Given the description of an element on the screen output the (x, y) to click on. 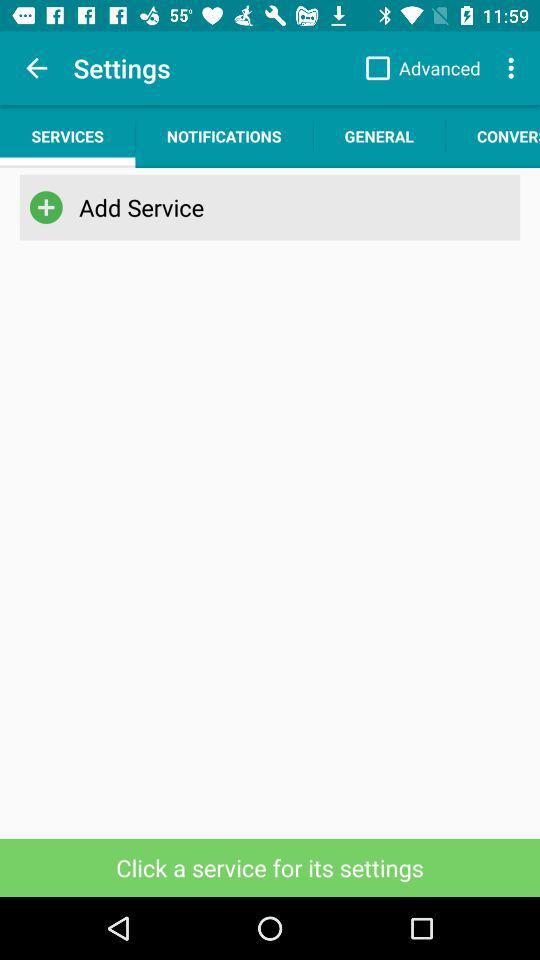
turn on the app next to settings item (36, 68)
